Given the description of an element on the screen output the (x, y) to click on. 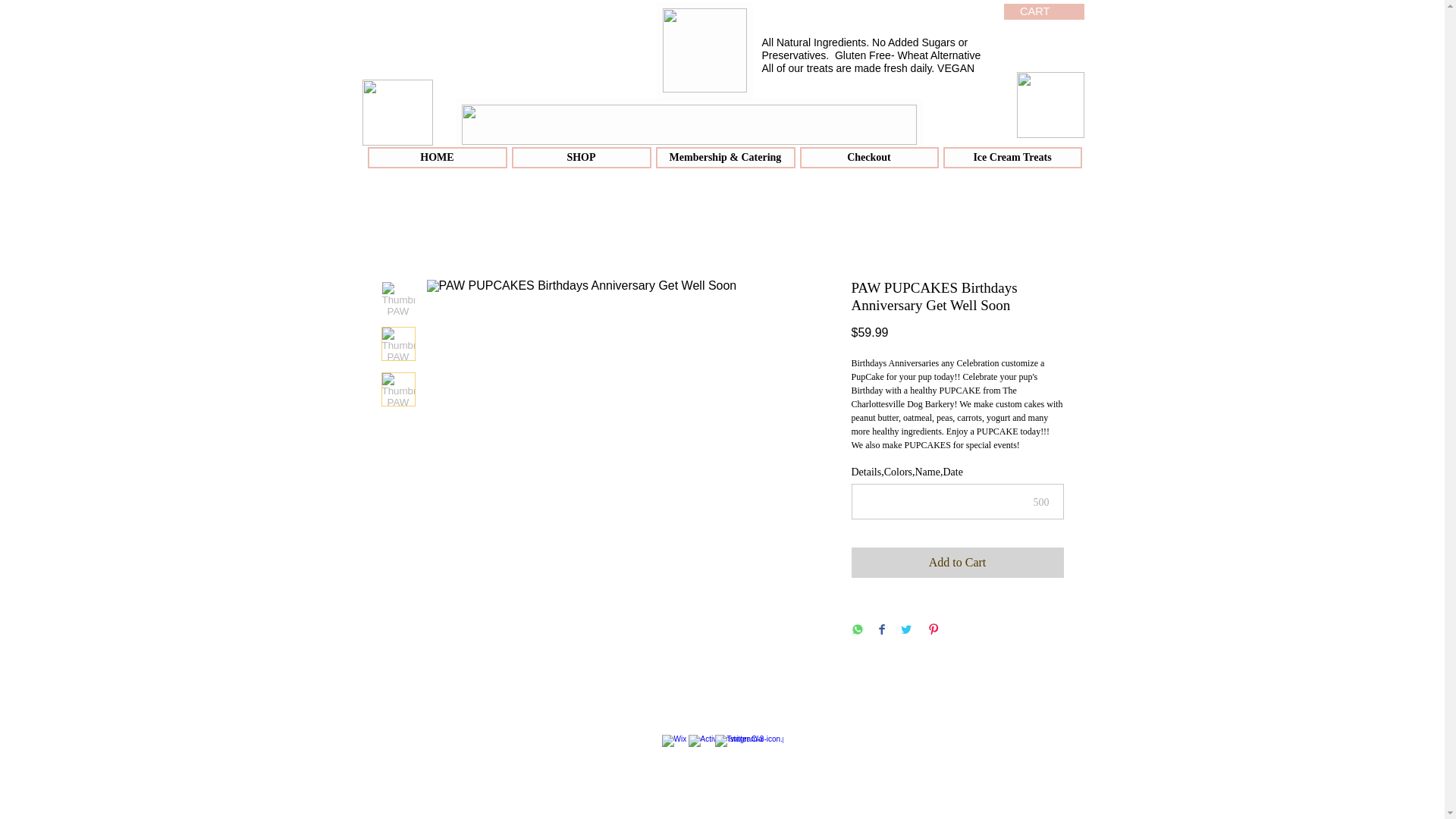
Add to Cart (956, 562)
HOME (436, 157)
Ice Cream Treats (1012, 157)
CART (1042, 11)
CART (1042, 11)
SHOP (580, 157)
Checkout (868, 157)
